Given the description of an element on the screen output the (x, y) to click on. 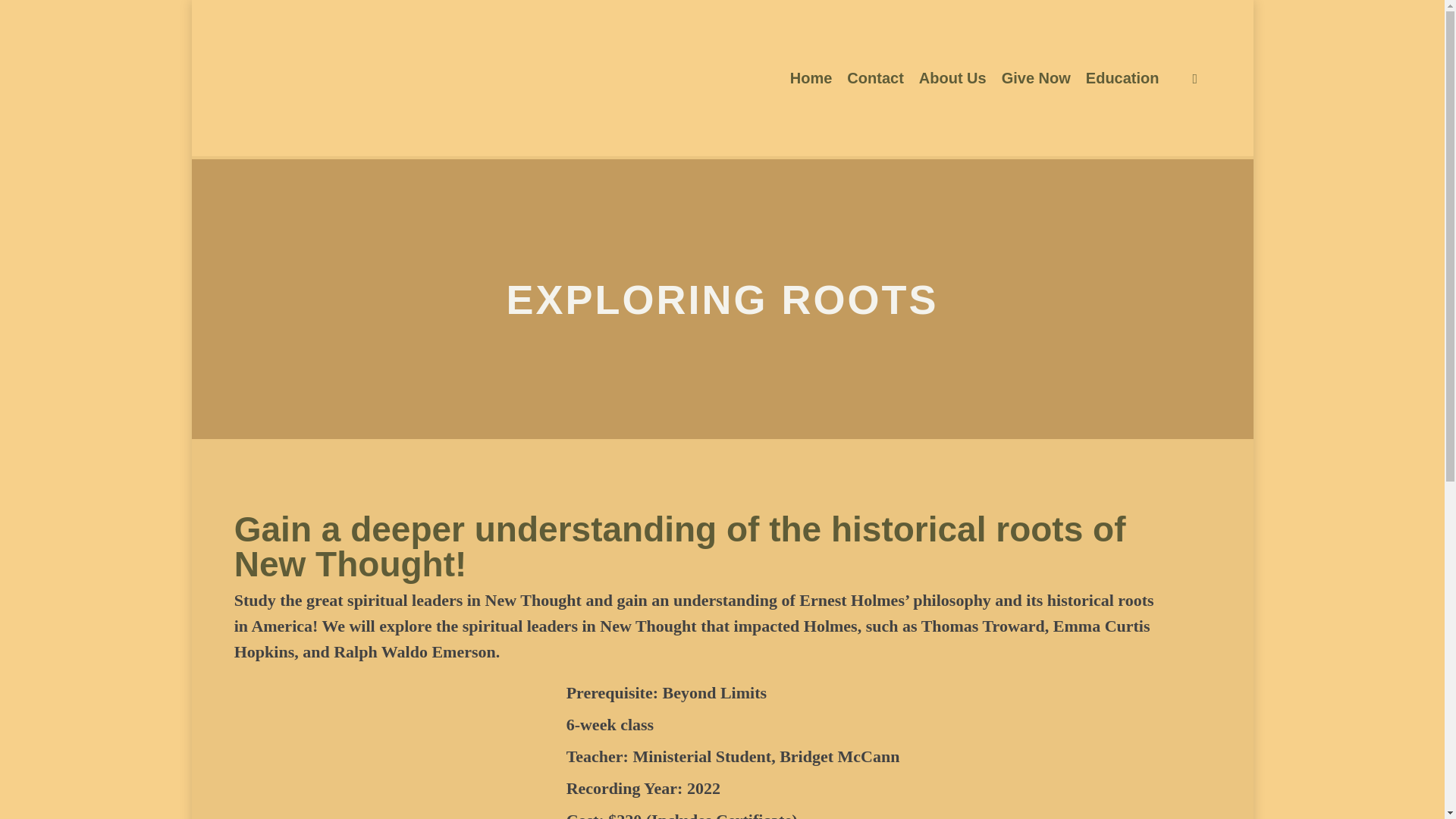
Education (1122, 77)
About Us (952, 77)
Home (811, 77)
Contact (874, 77)
Give Now (1035, 77)
